Given the description of an element on the screen output the (x, y) to click on. 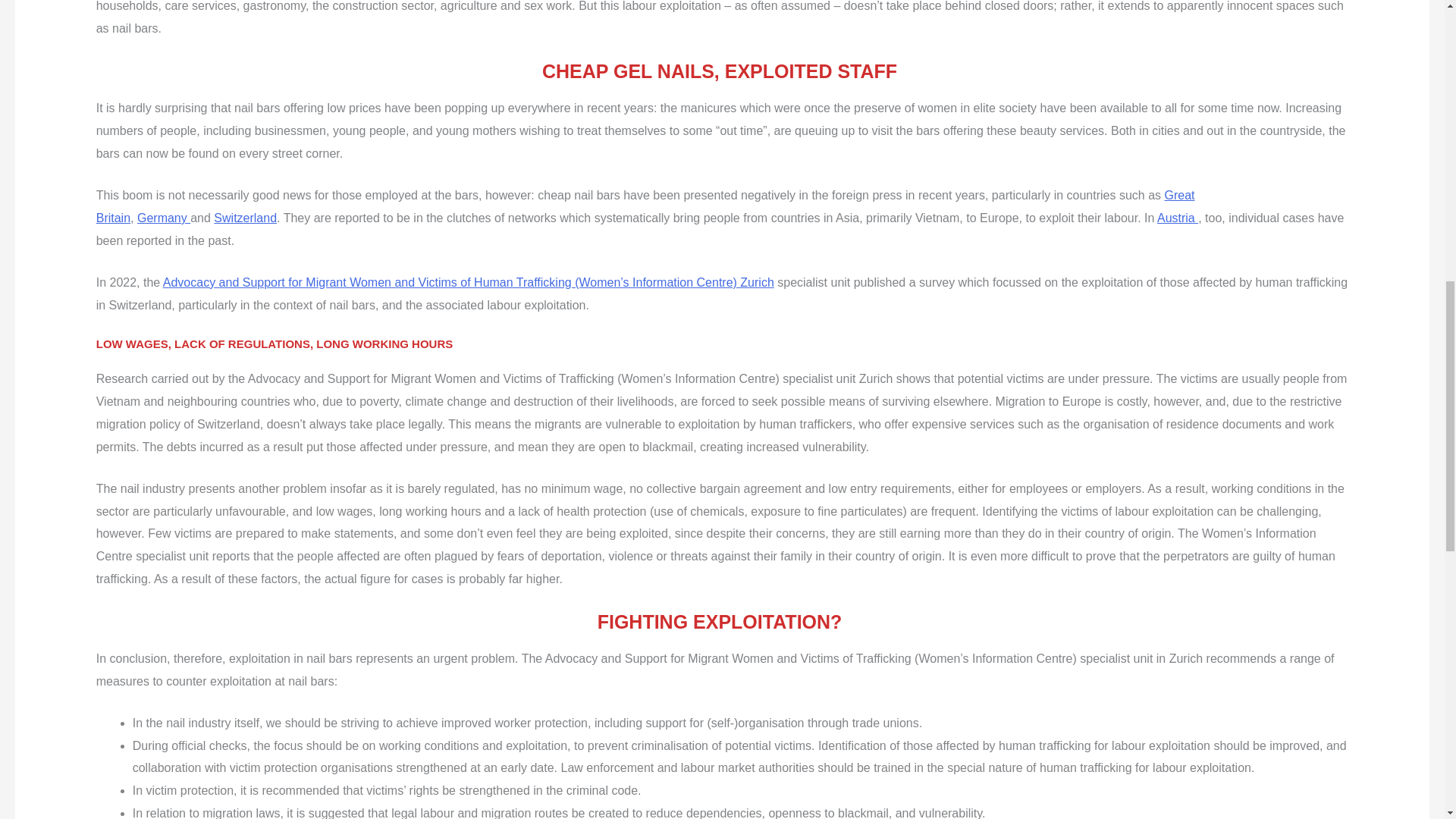
Switzerland (245, 217)
Great Britain (645, 206)
Austria  (1177, 217)
Germany  (163, 217)
